Given the description of an element on the screen output the (x, y) to click on. 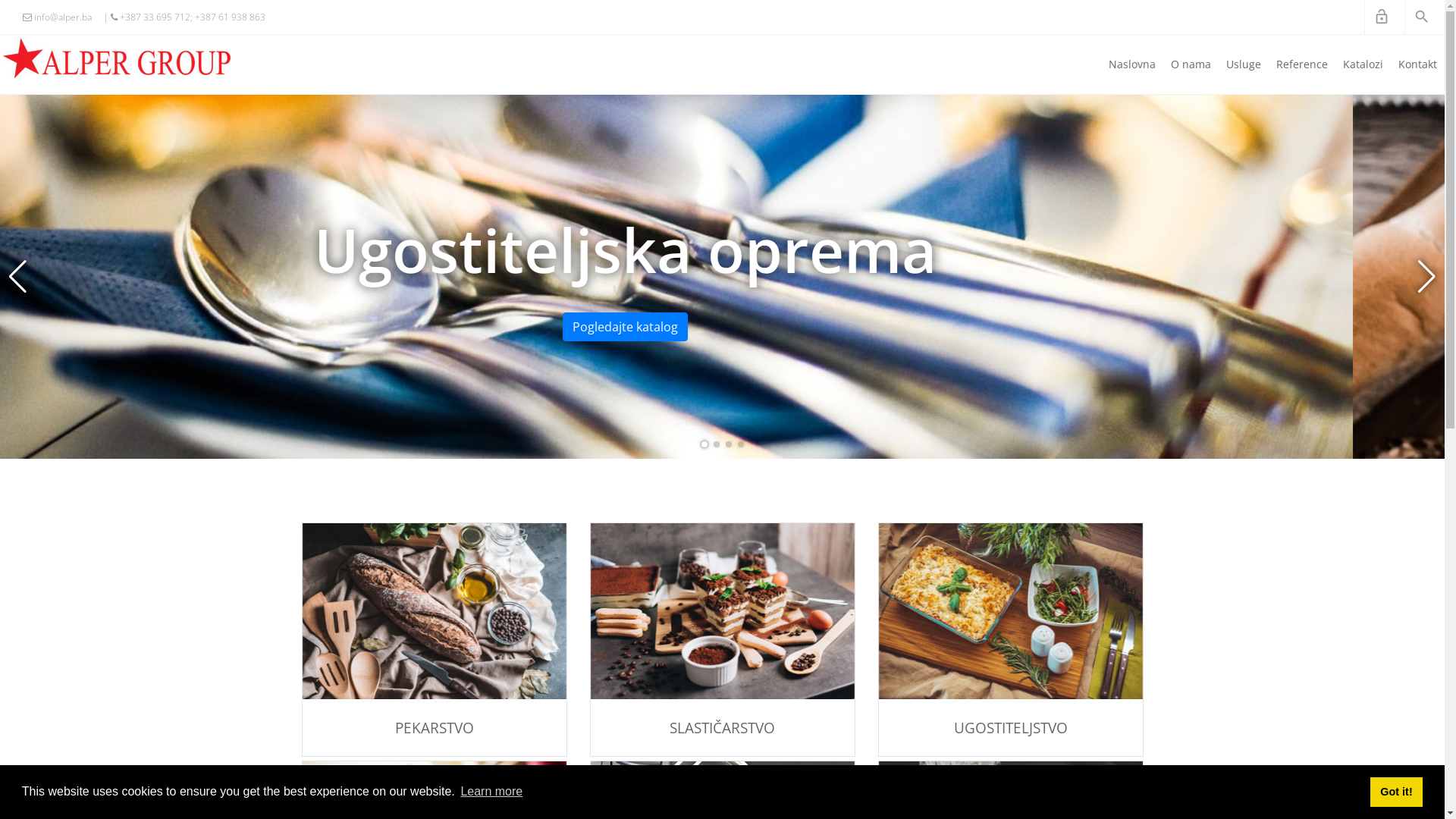
Pogledajte katalog Element type: text (1010, 705)
Naslovna Element type: text (1132, 64)
Pogledajte katalog Element type: text (433, 689)
O nama Element type: text (1190, 64)
Got it! Element type: text (1396, 791)
+387 33 695 712; +387 61 938 863 Element type: text (182, 17)
Katalozi Element type: text (1362, 64)
Kontakt Element type: text (1417, 64)
lock_open Element type: text (1381, 17)
Pogledajte katalog Element type: text (727, 326)
info@alper.ba Element type: text (56, 17)
search Element type: text (1421, 17)
Pogledajte katalog Element type: text (721, 705)
ALPER GROUP doo Element type: hover (116, 57)
Usluge Element type: text (1243, 64)
Reference Element type: text (1301, 64)
Learn more Element type: text (491, 791)
